Given the description of an element on the screen output the (x, y) to click on. 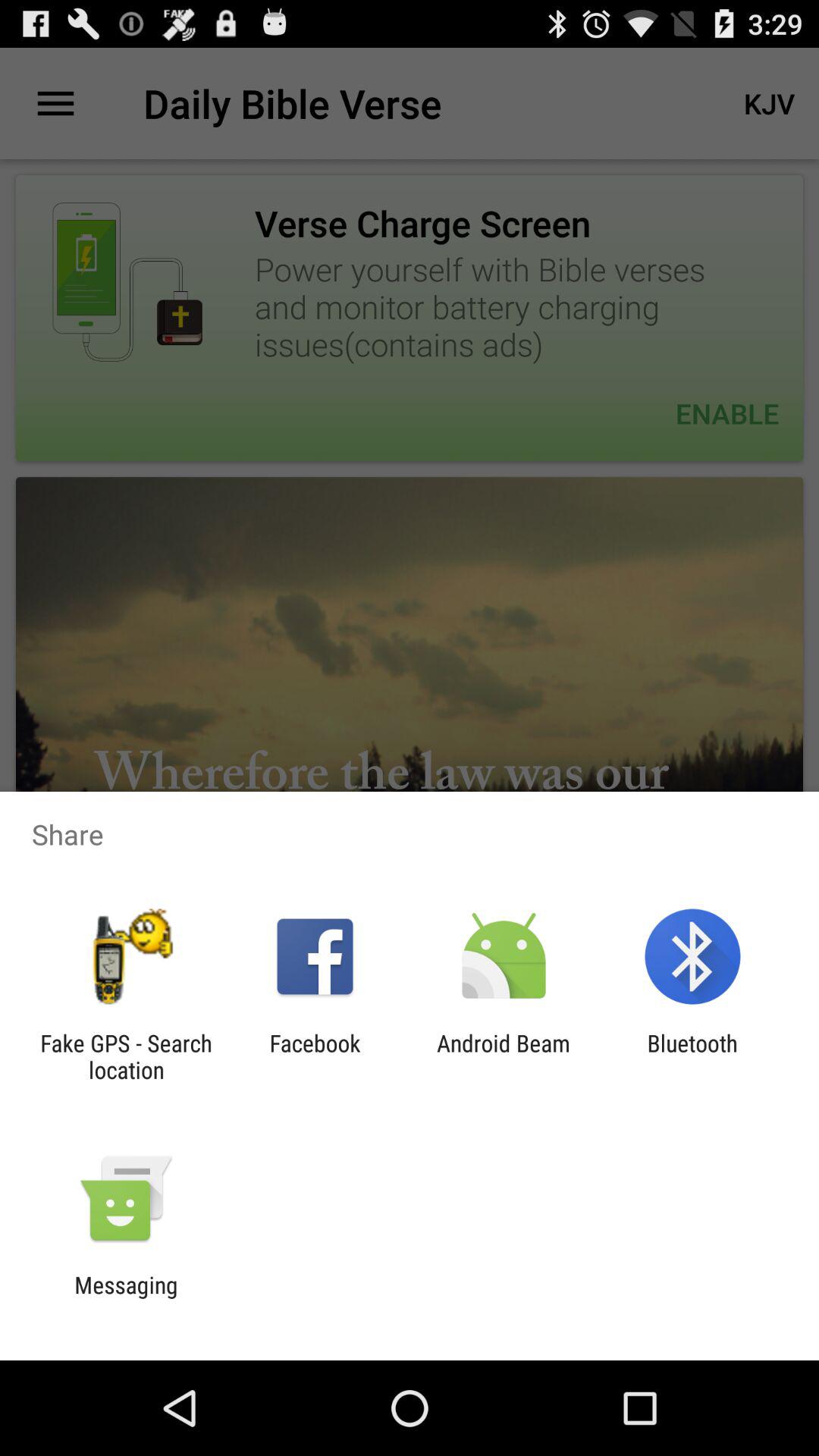
jump until the android beam item (503, 1056)
